Given the description of an element on the screen output the (x, y) to click on. 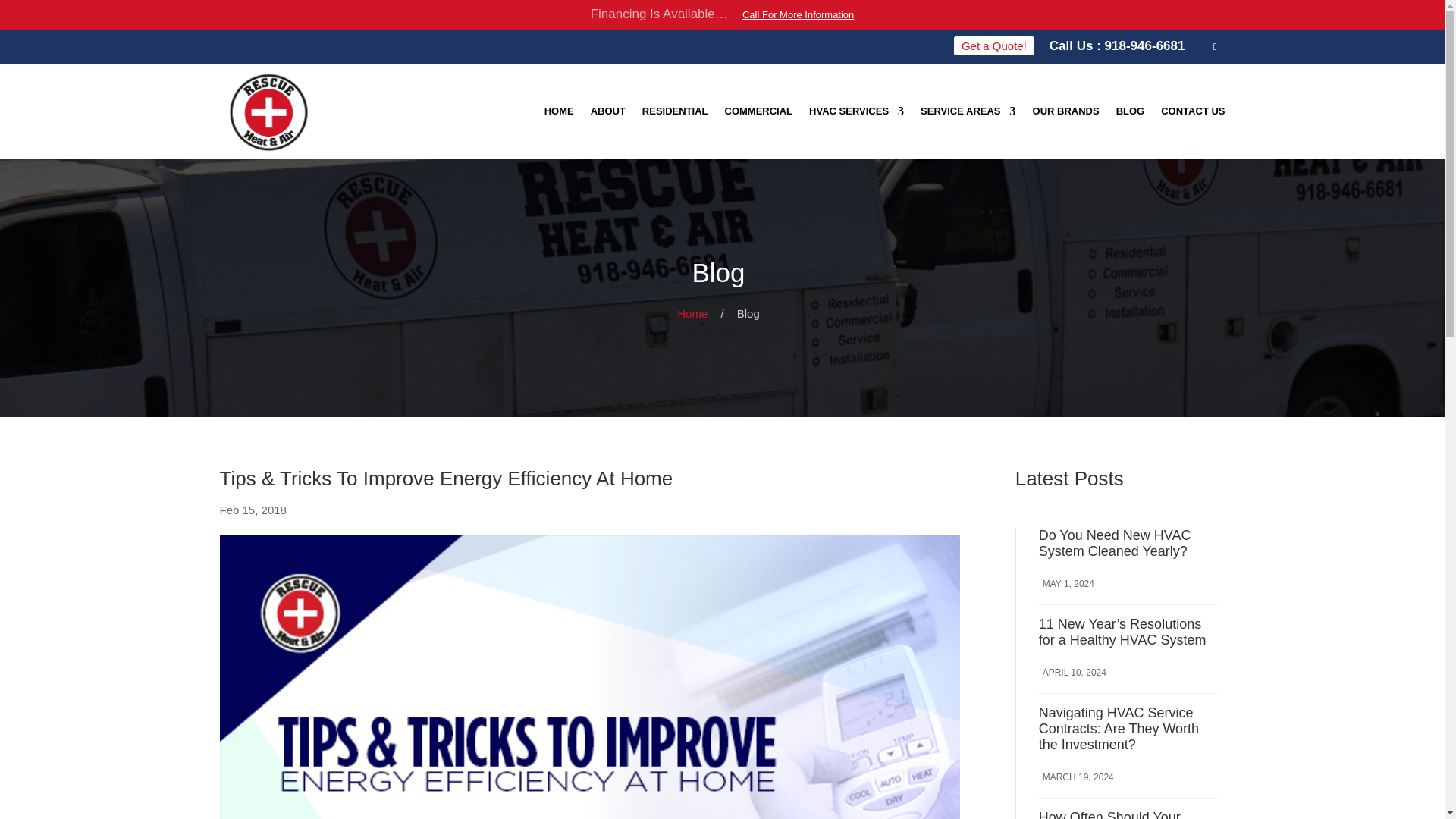
Call For More Information (797, 14)
Get a Quote! (993, 45)
Follow on Facebook (1214, 46)
Call Us : 918-946-6681 (1117, 44)
HVAC SERVICES (856, 111)
SERVICE AREAS (967, 111)
